Given the description of an element on the screen output the (x, y) to click on. 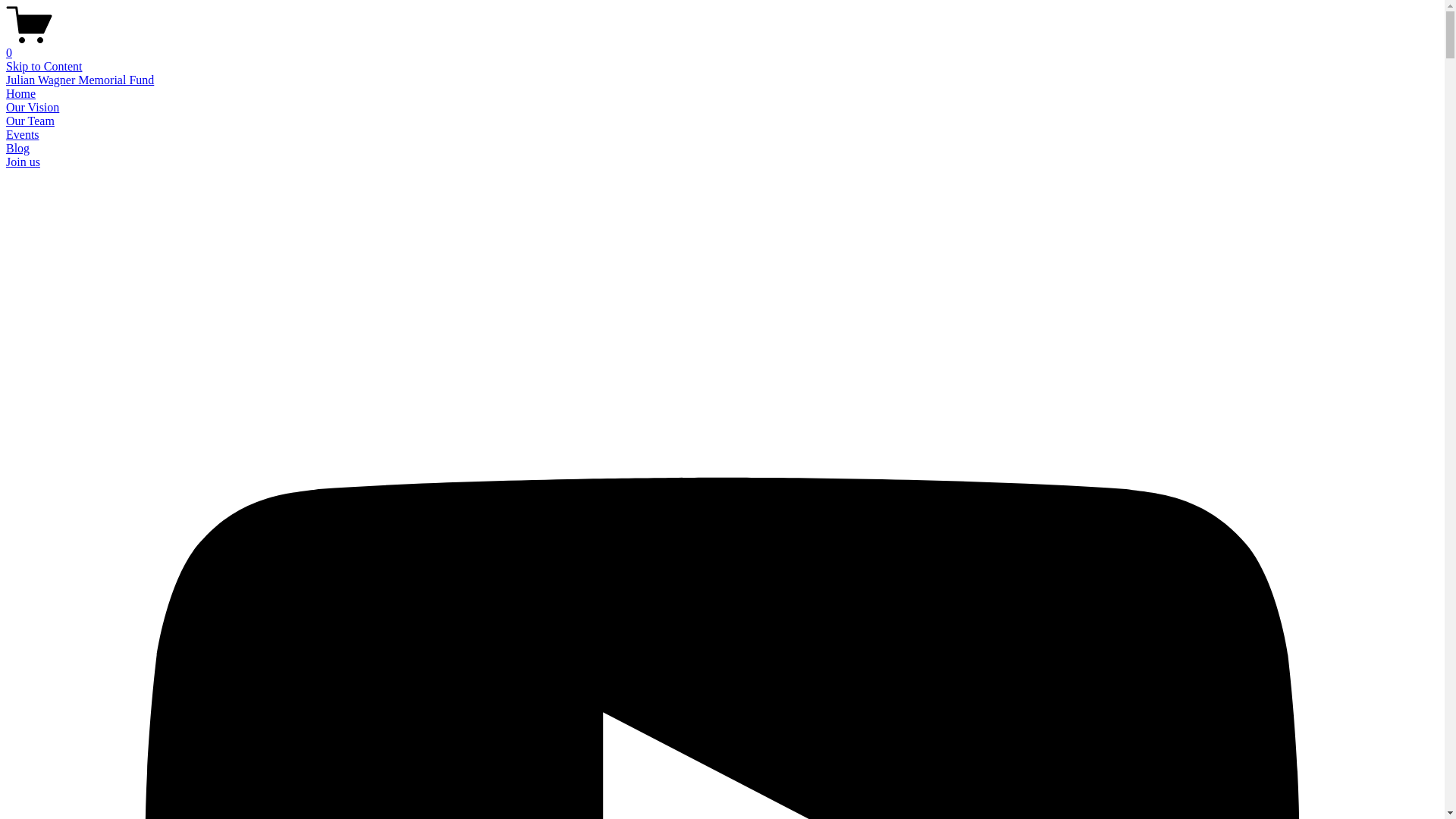
Skip to Content Element type: text (43, 65)
Home Element type: text (20, 93)
0 Element type: text (722, 45)
Julian Wagner Memorial Fund Element type: text (79, 79)
Events Element type: text (22, 134)
Our Team Element type: text (30, 120)
Our Vision Element type: text (32, 106)
Join us Element type: text (23, 161)
Blog Element type: text (17, 147)
